Given the description of an element on the screen output the (x, y) to click on. 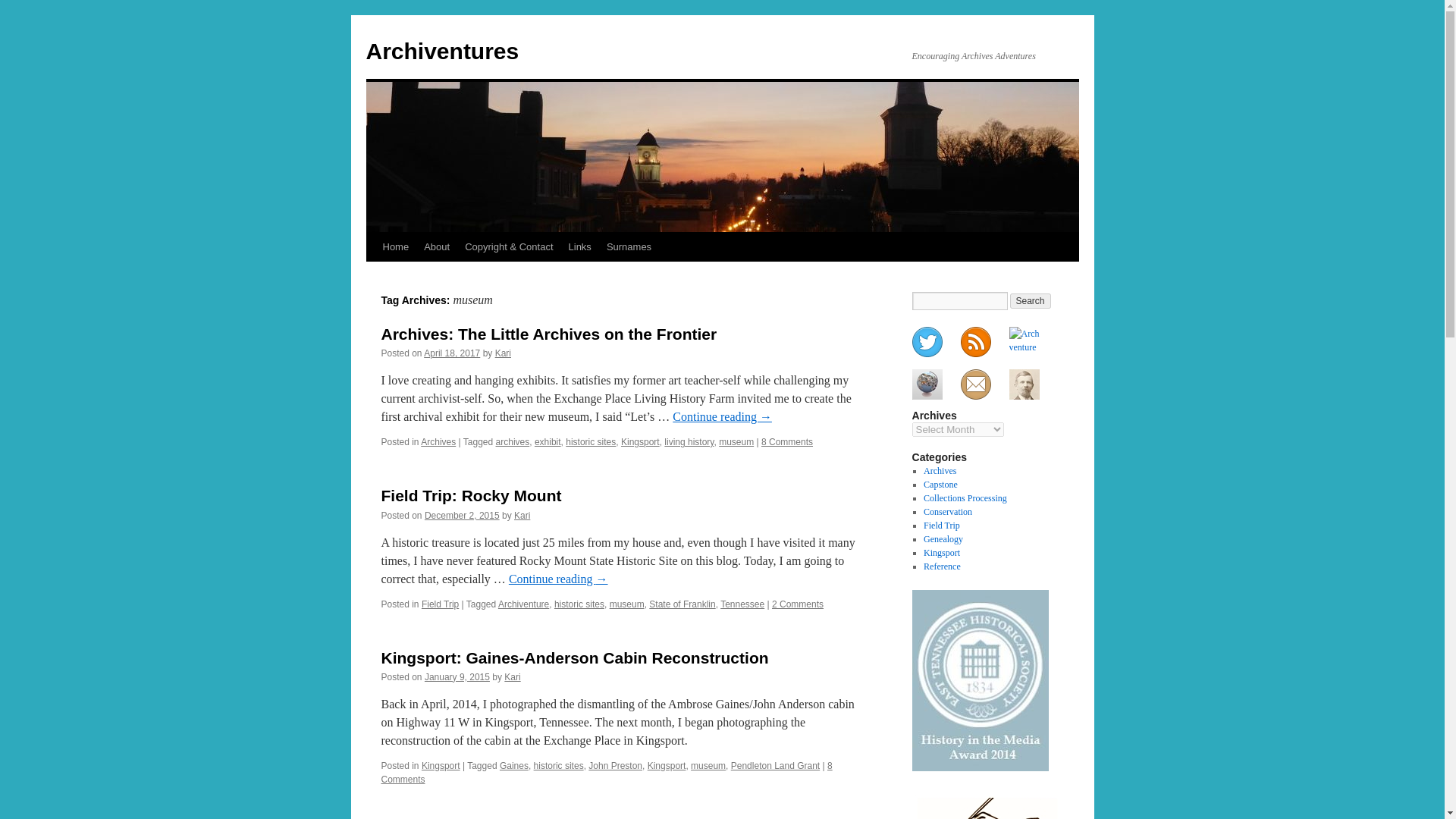
Archives: The Little Archives on the Frontier (548, 334)
State of Franklin (681, 603)
John Preston (615, 765)
Pendleton Land Grant (774, 765)
Search (1030, 300)
museum (627, 603)
exhibit (547, 441)
Kari (503, 353)
View all posts by Kari (511, 676)
View all posts by Kari (521, 515)
Archives (437, 441)
Links (579, 246)
museum (707, 765)
8 Comments (786, 441)
8:50 am (457, 676)
